Given the description of an element on the screen output the (x, y) to click on. 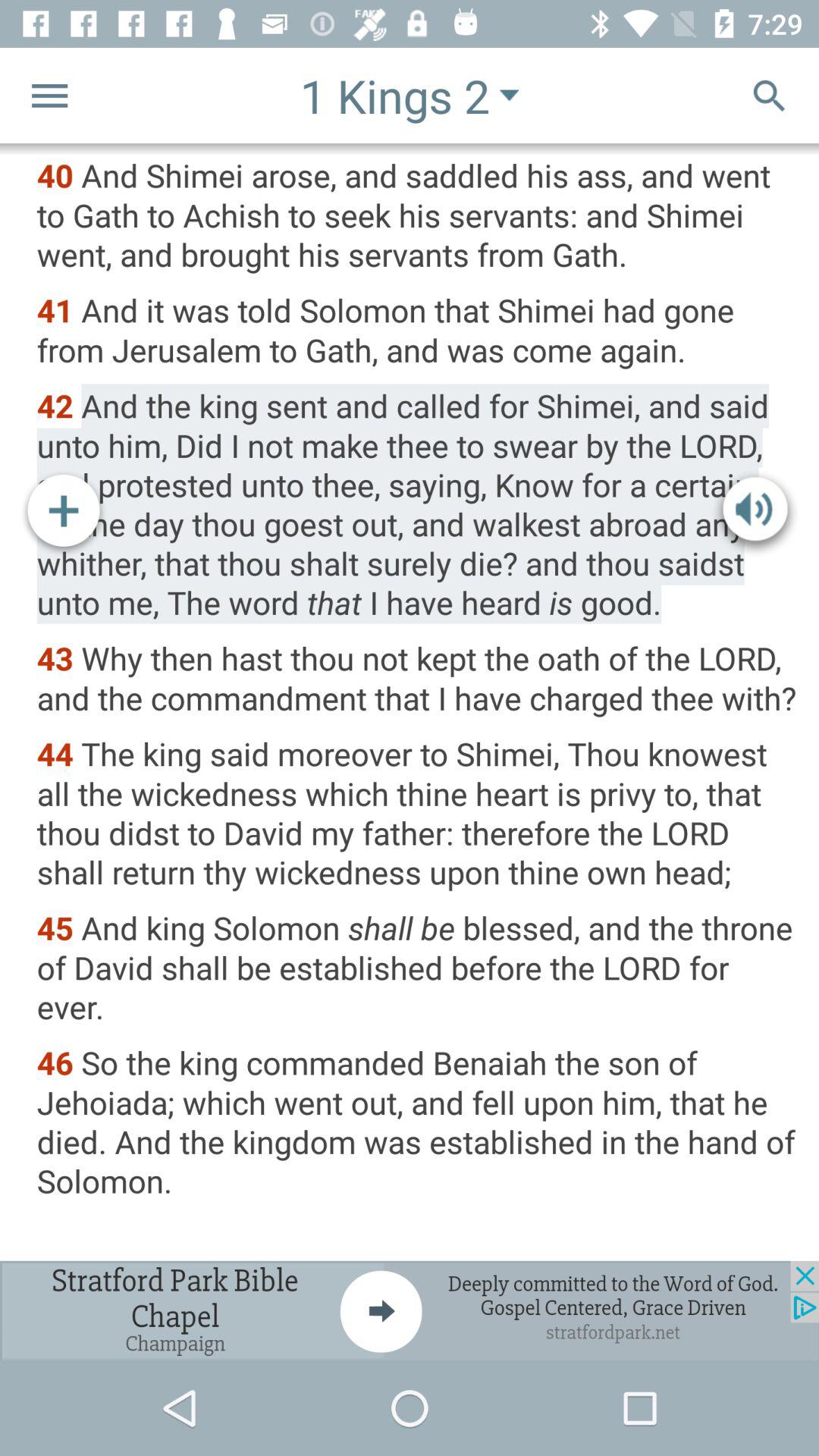
setting option (49, 95)
